Given the description of an element on the screen output the (x, y) to click on. 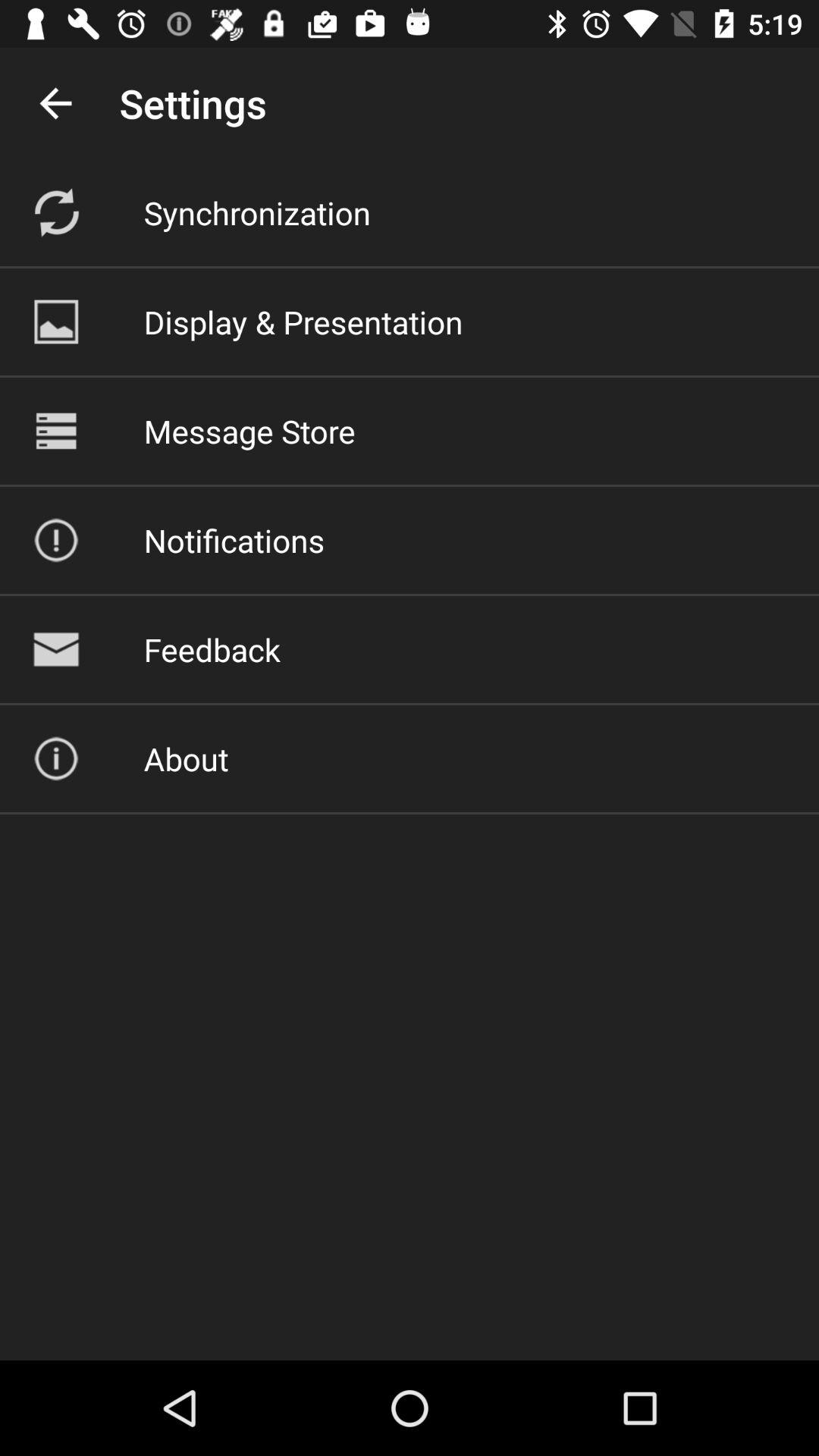
press the icon above the feedback icon (233, 539)
